Given the description of an element on the screen output the (x, y) to click on. 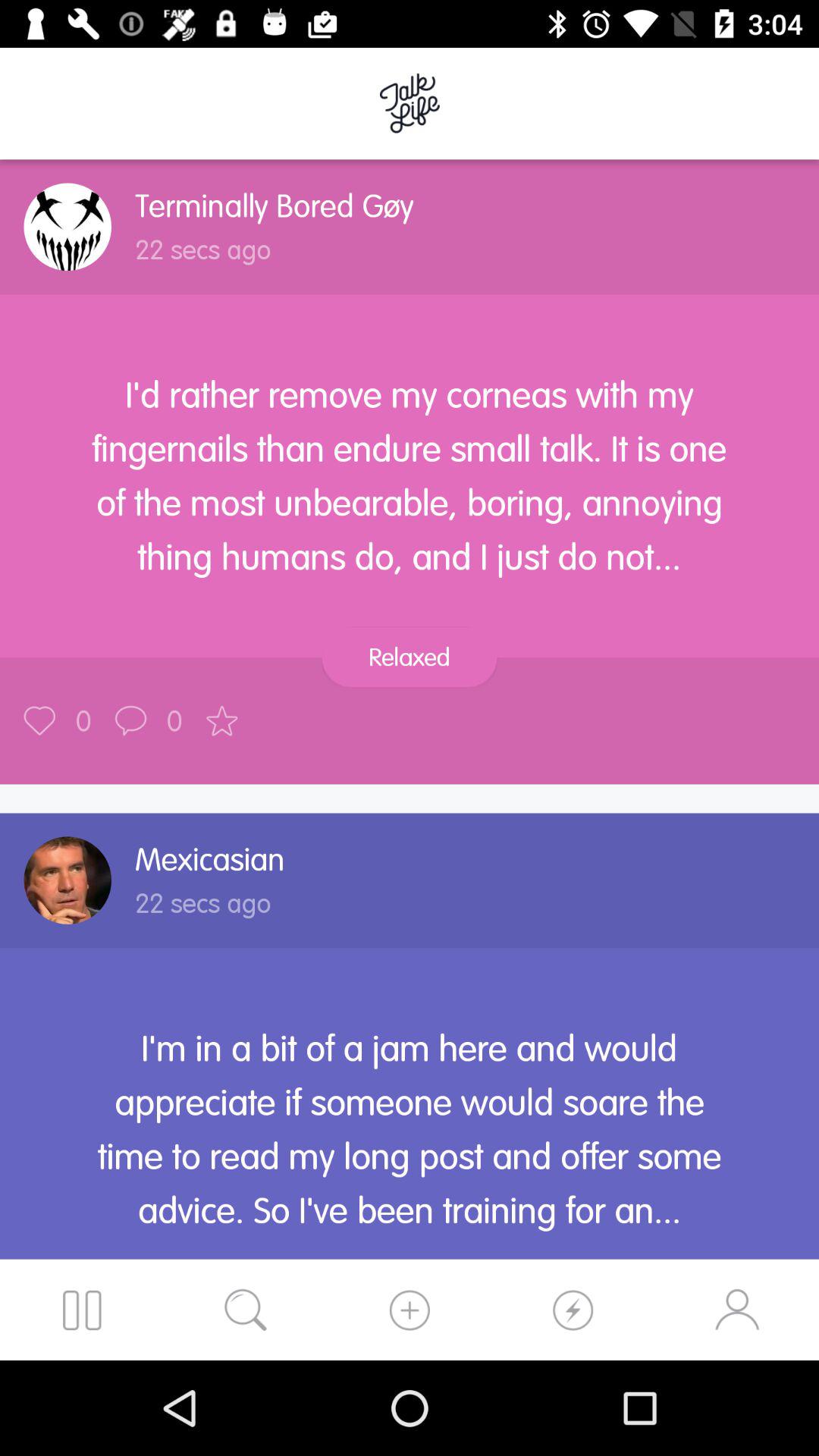
save/favorite post (39, 720)
